Given the description of an element on the screen output the (x, y) to click on. 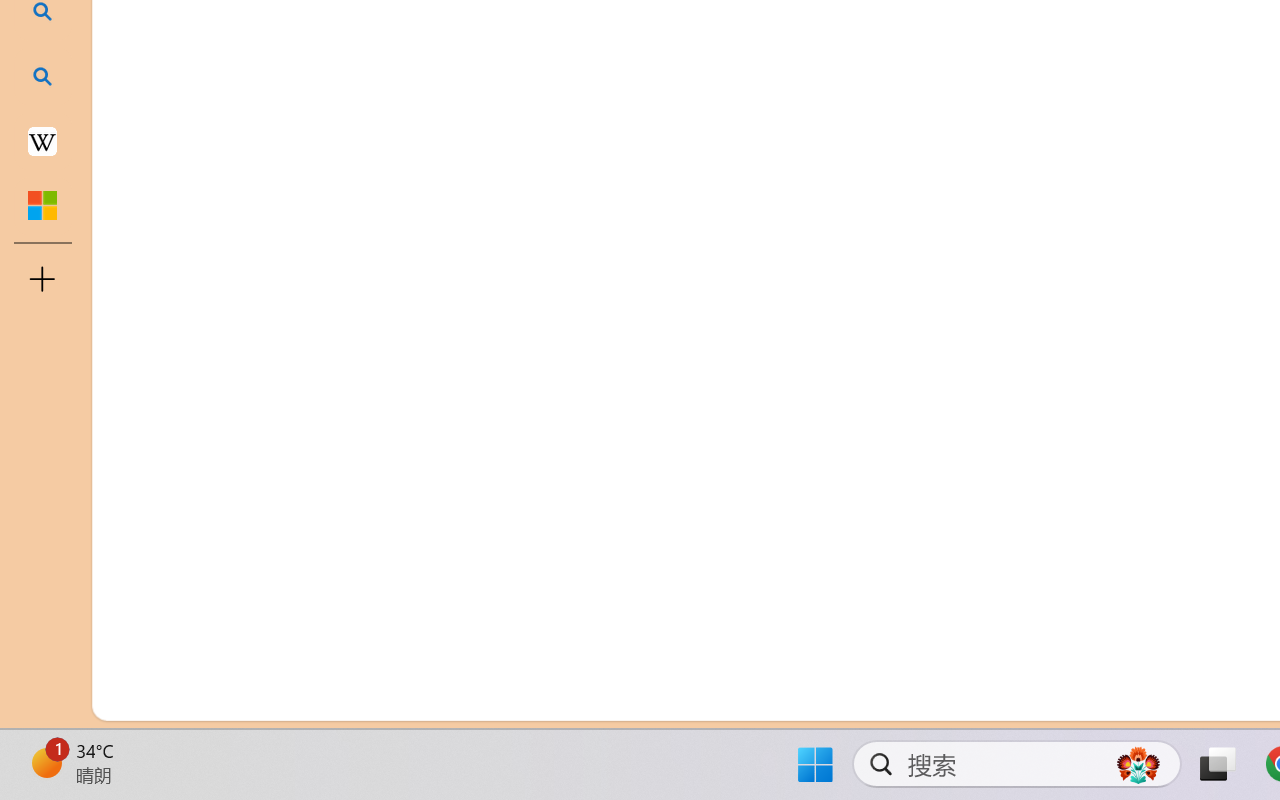
Timeline Section (331, 658)
Output (Ctrl+Shift+U) (696, 243)
Ports - 5 forwarded ports (1162, 243)
Forwarded Ports: 36301, 47065, 38781, 45817, 50331 (308, 698)
Problems (Ctrl+Shift+M) (567, 243)
No Problems (212, 698)
